Given the description of an element on the screen output the (x, y) to click on. 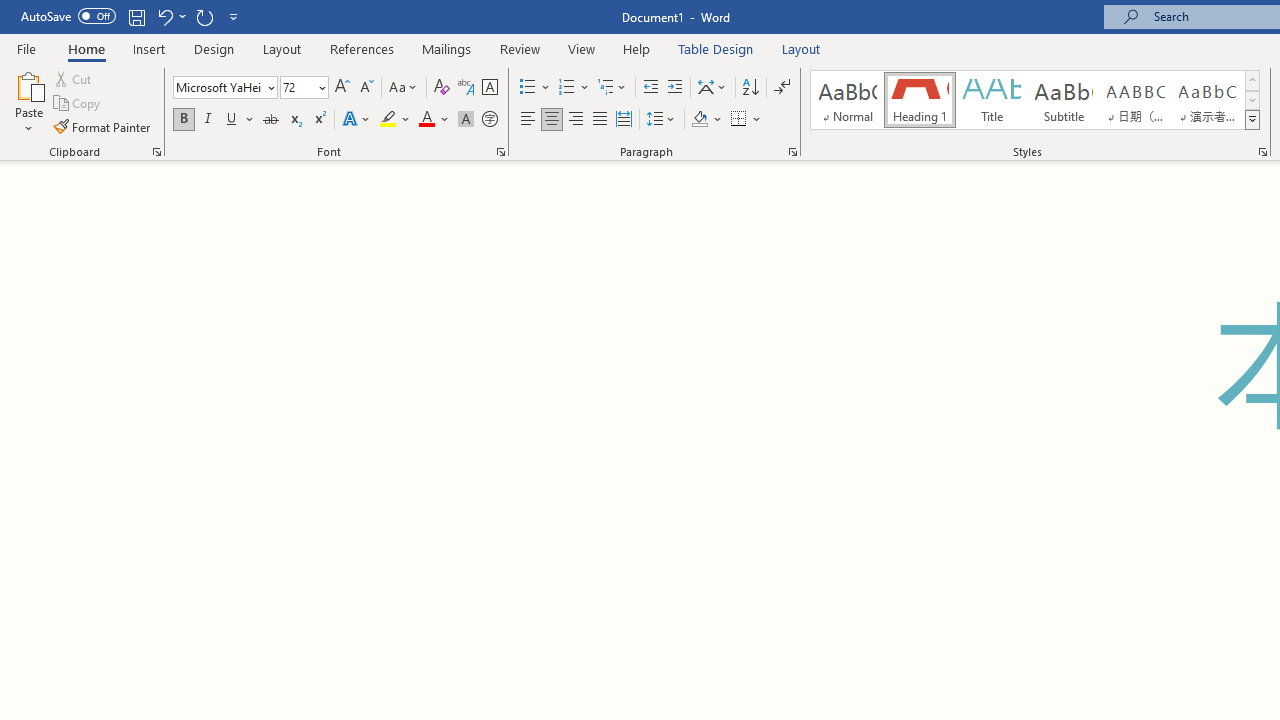
Repeat Doc Close (204, 15)
